Given the description of an element on the screen output the (x, y) to click on. 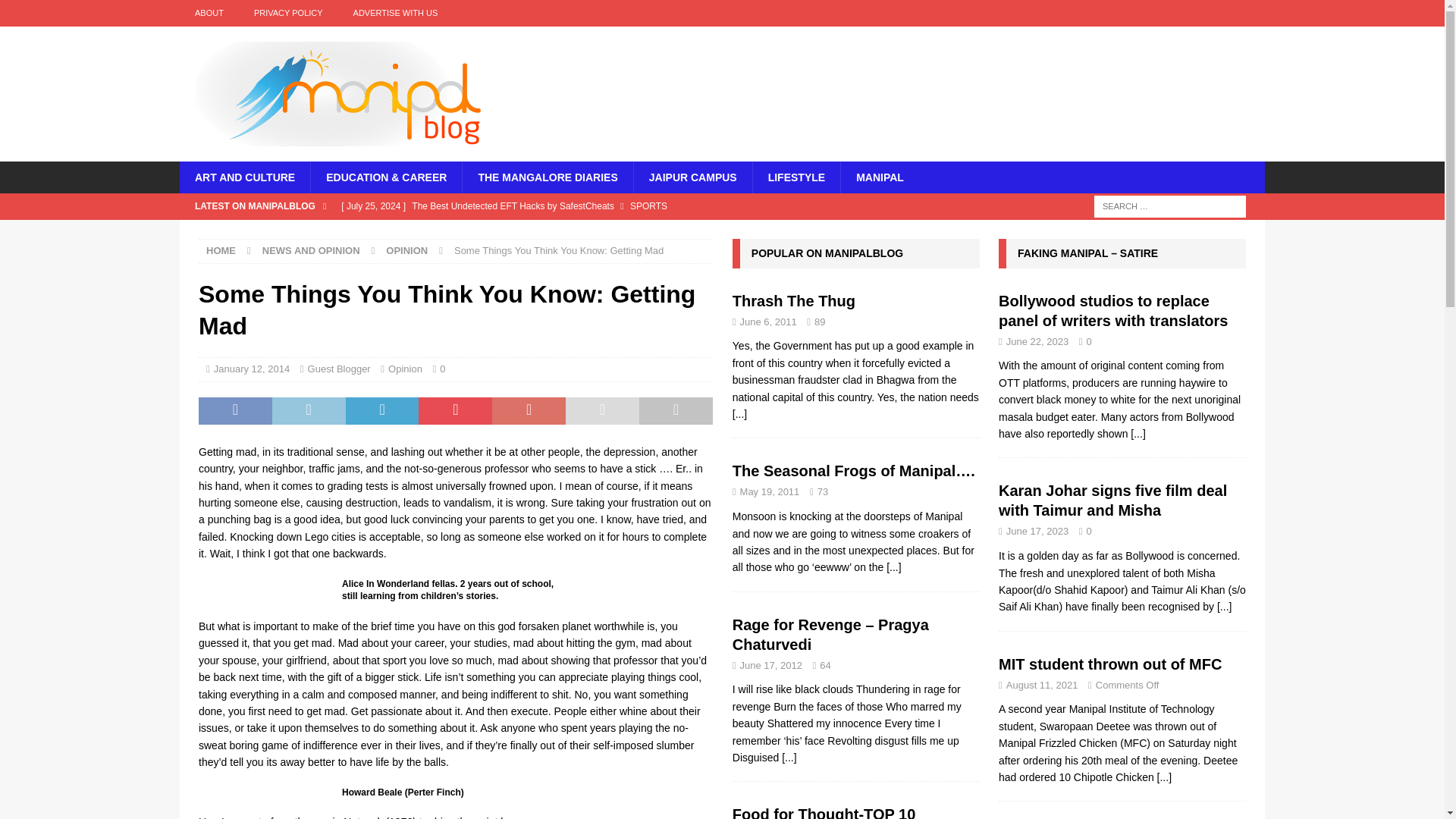
Search (56, 11)
NEWS AND OPINION (310, 250)
HOME (220, 250)
Guest Blogger (339, 368)
ART AND CULTURE (244, 177)
Opinion (405, 368)
ABOUT (208, 13)
MANIPAL (879, 177)
Types of Paithani Sarees: Understanding the Variations (609, 231)
OPINION (406, 250)
PRIVACY POLICY (287, 13)
JAIPUR CAMPUS (692, 177)
THE MANGALORE DIARIES (546, 177)
The Best Undetected EFT Hacks by SafestCheats (609, 206)
LIFESTYLE (796, 177)
